Given the description of an element on the screen output the (x, y) to click on. 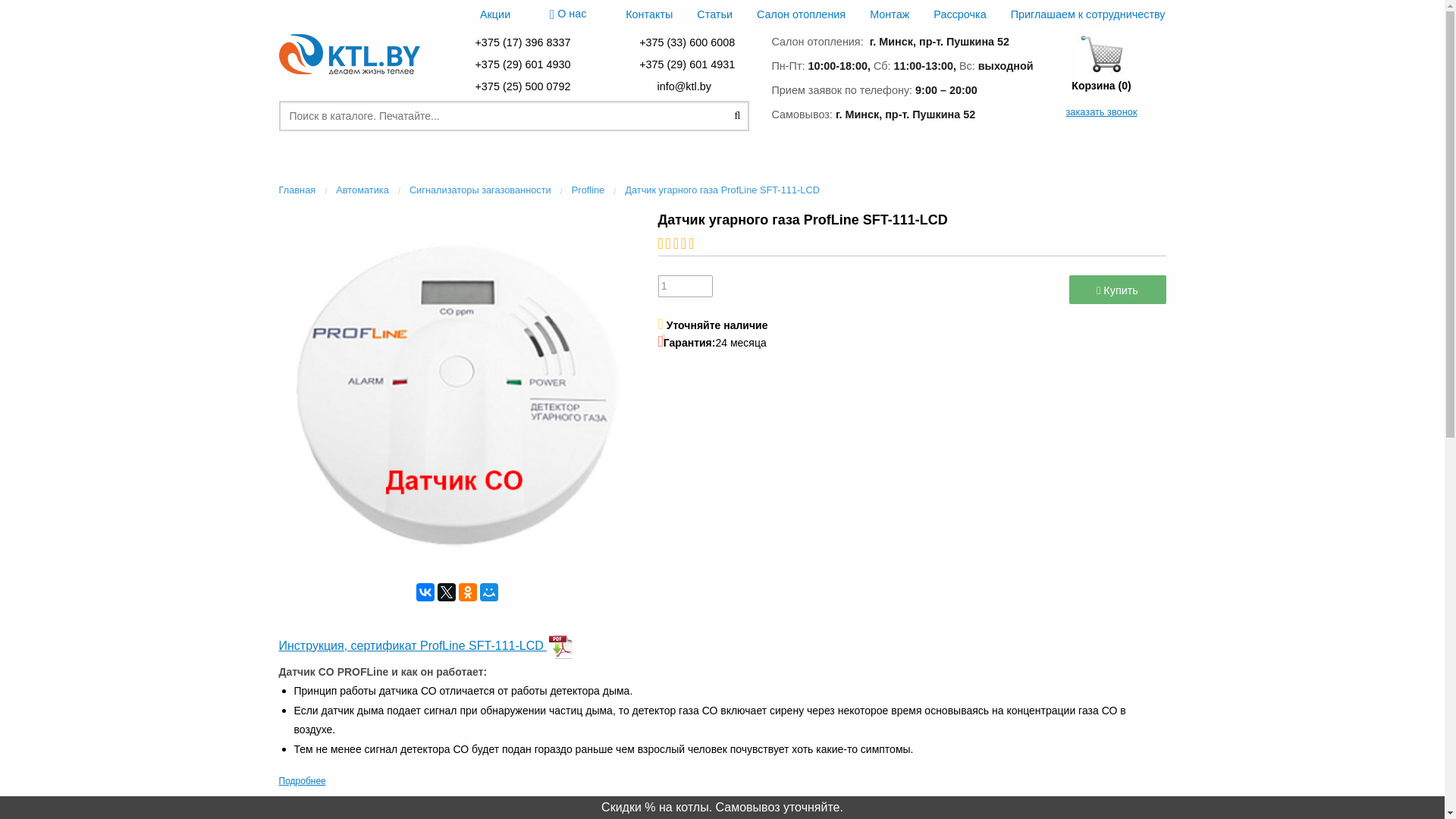
+375 (29) 601 4931 Element type: text (686, 64)
Profline Element type: text (587, 189)
Not rated yet! Element type: hover (668, 243)
     info@ktl.by        Element type: text (686, 86)
Not rated yet! Element type: hover (912, 243)
Twitter Element type: hover (445, 592)
+375 (33) 600 6008 Element type: text (686, 42)
Not rated yet! Element type: hover (675, 243)
+375 (25) 500 0792 Element type: text (522, 86)
+375 (17) 396 8337 Element type: text (522, 42)
Not rated yet! Element type: hover (690, 243)
+375 (29) 601 4930 Element type: text (522, 64)
Not rated yet! Element type: hover (683, 243)
Not rated yet! Element type: hover (660, 243)
